Given the description of an element on the screen output the (x, y) to click on. 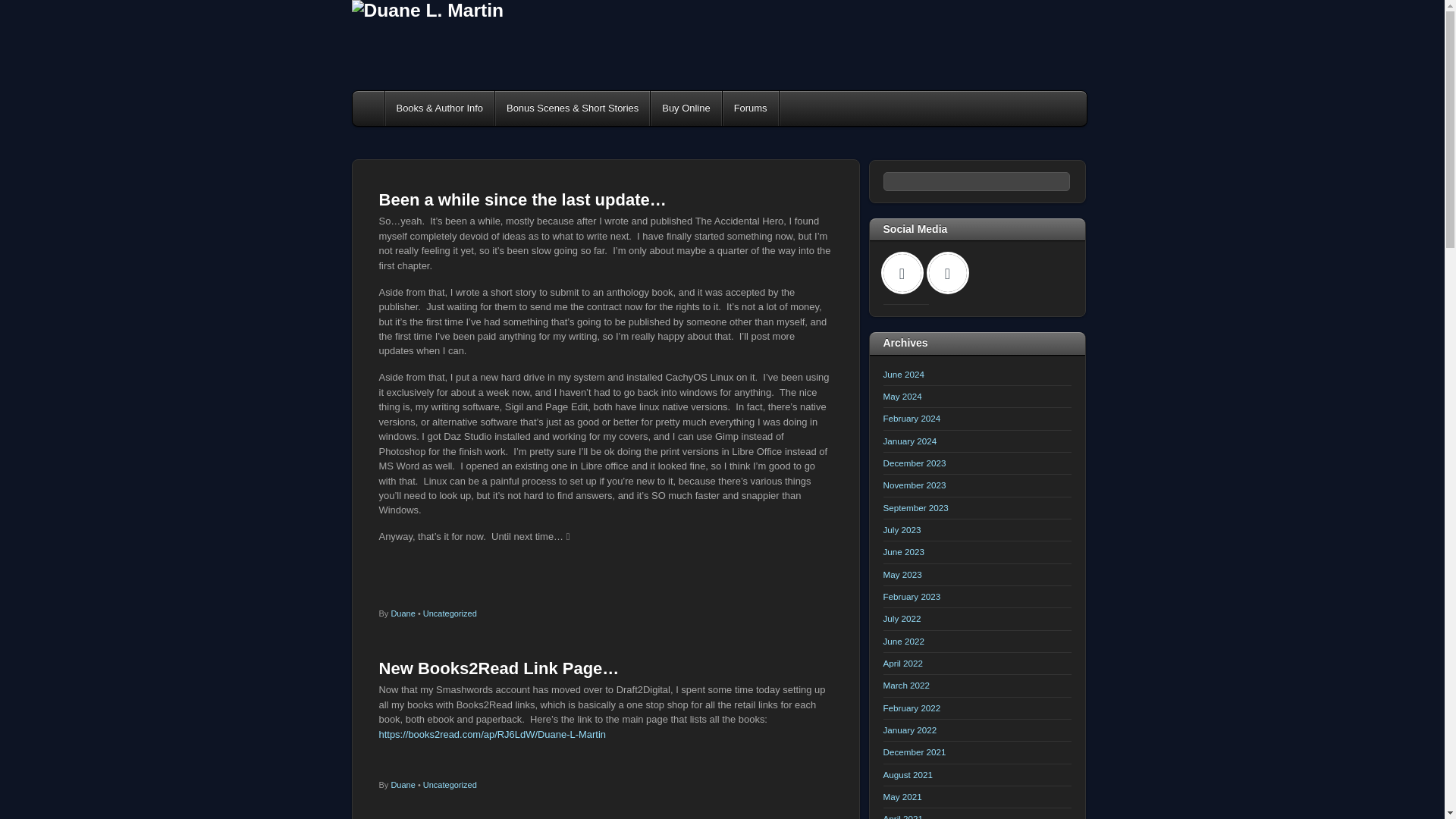
Forums (750, 108)
Duane (402, 613)
Buy Online (685, 108)
Duane (402, 784)
Uncategorized (450, 784)
Search (976, 180)
Duane L. Martin (427, 10)
Uncategorized (450, 613)
Home (369, 108)
